Given the description of an element on the screen output the (x, y) to click on. 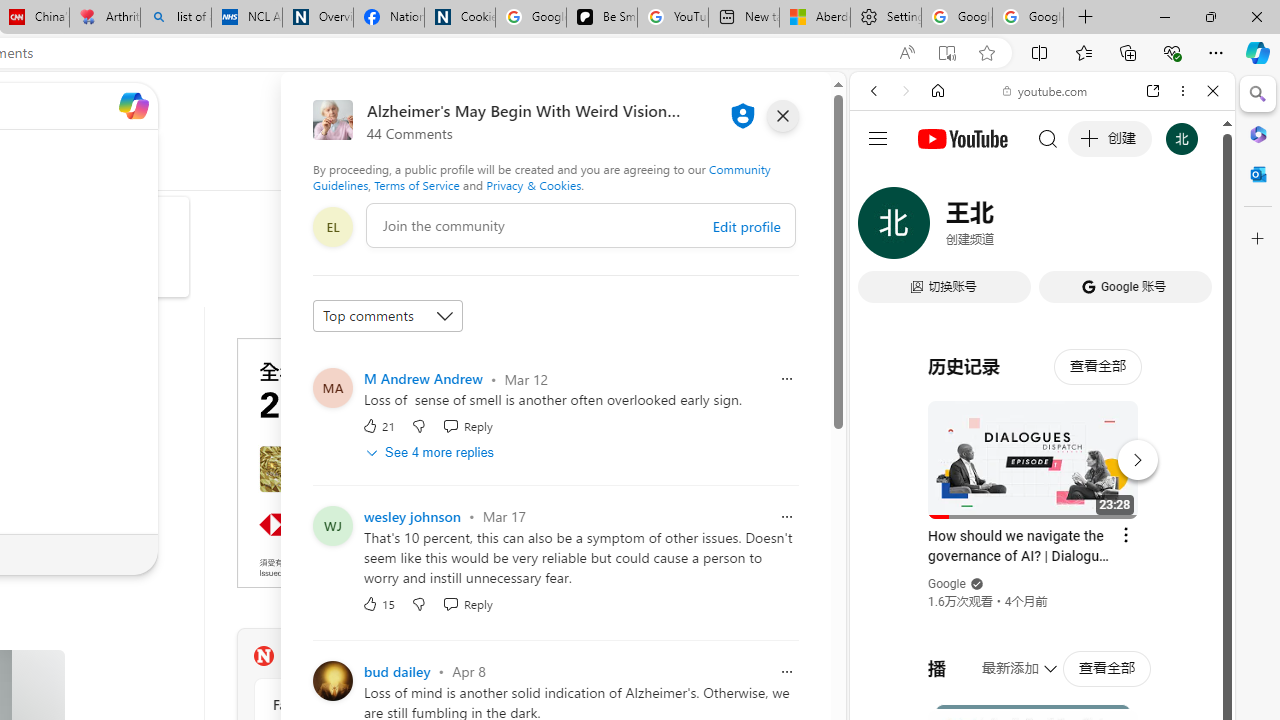
Privacy & Cookies (534, 184)
M Andrew Andrew (422, 378)
Reply Reply Comment (466, 603)
Class: qc-adchoices-link top-right  (526, 344)
Search videos from youtube.com (1005, 657)
Sky Blue Bikes (75, 280)
list of asthma inhalers uk - Search (175, 17)
Edit profile (745, 226)
